Given the description of an element on the screen output the (x, y) to click on. 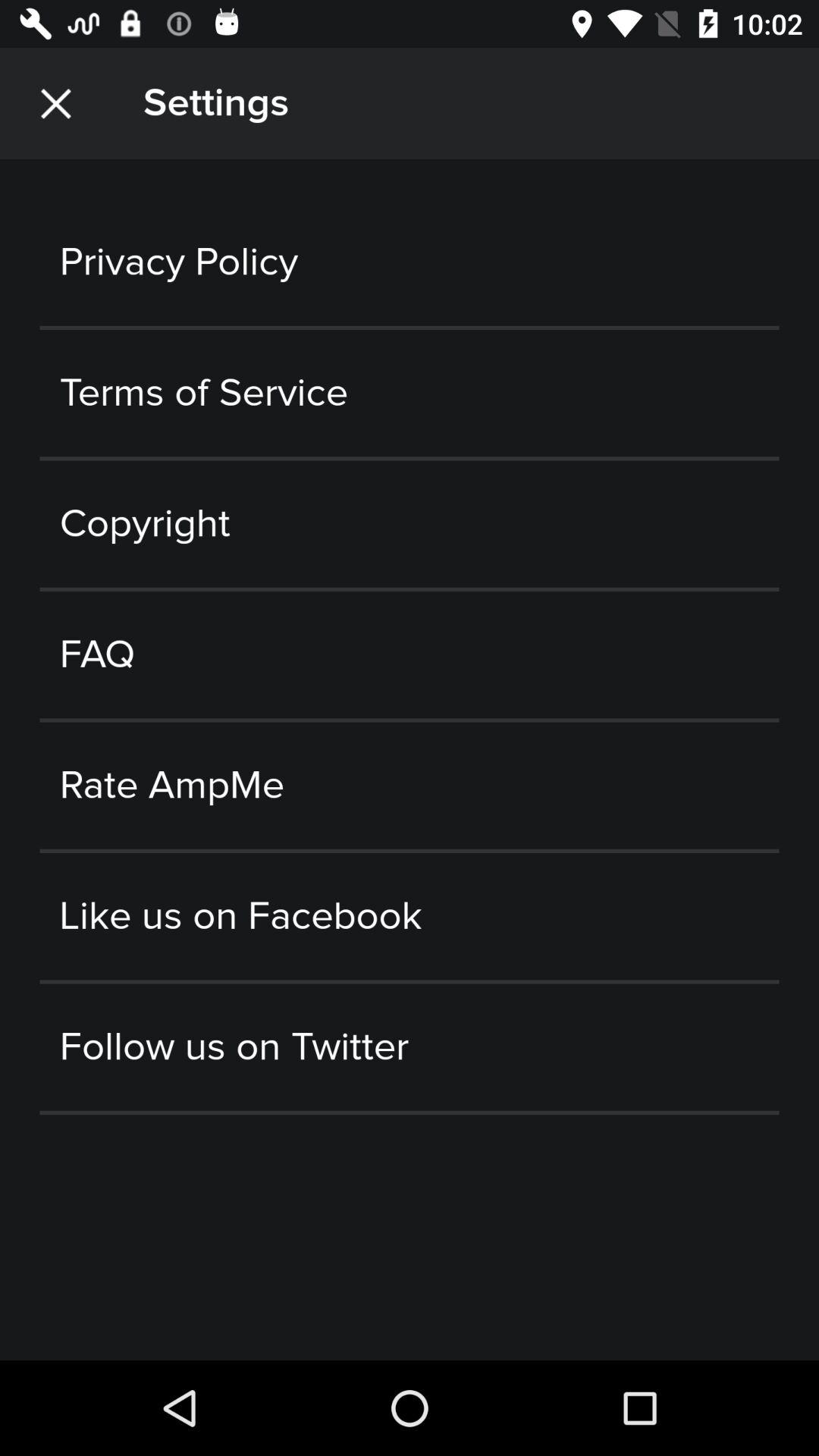
scroll to terms of service icon (409, 392)
